Given the description of an element on the screen output the (x, y) to click on. 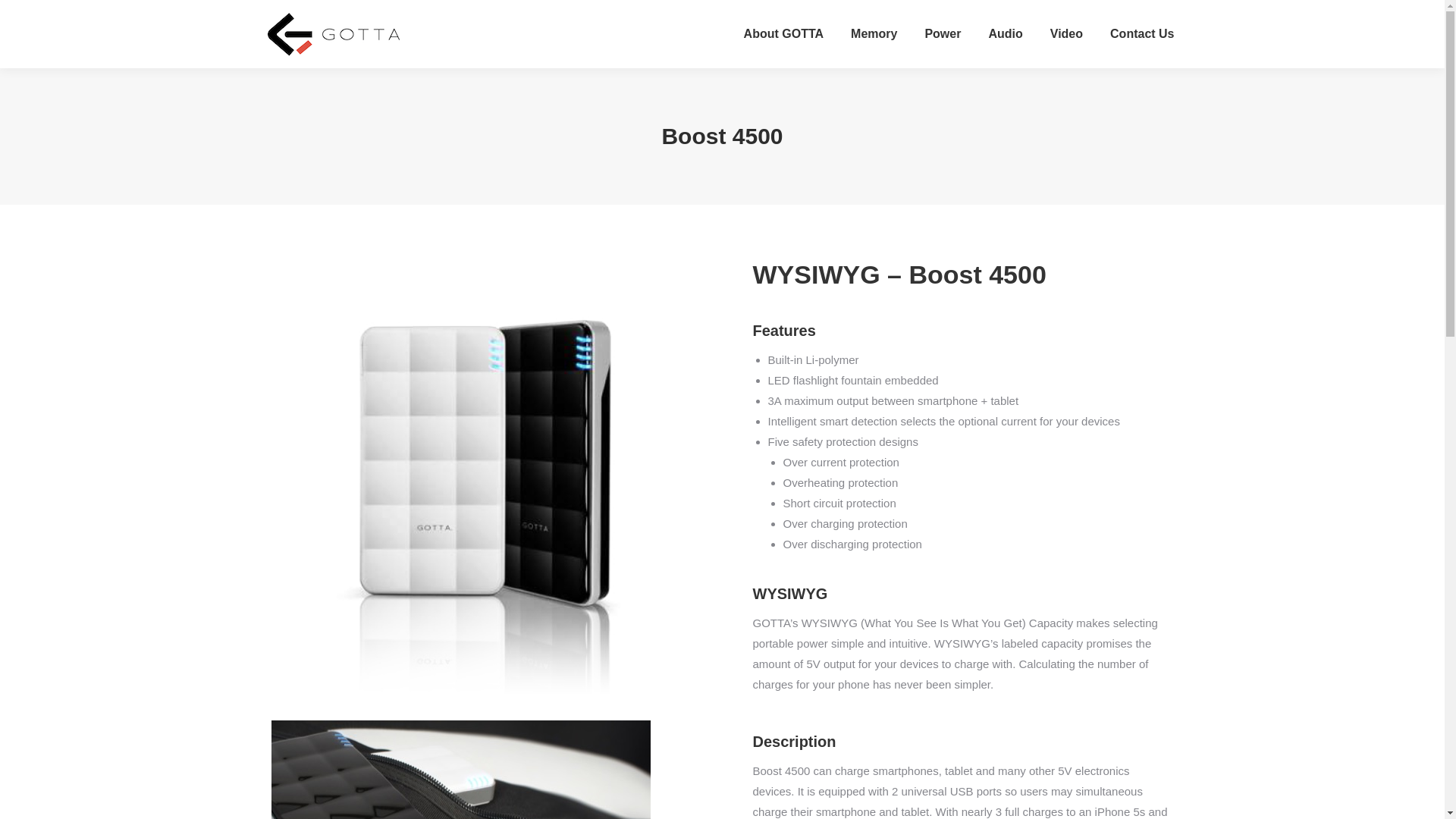
About GOTTA (784, 33)
Contact Us (1141, 33)
Audio (1005, 33)
Memory (873, 33)
Power (942, 33)
Video (1066, 33)
